Given the description of an element on the screen output the (x, y) to click on. 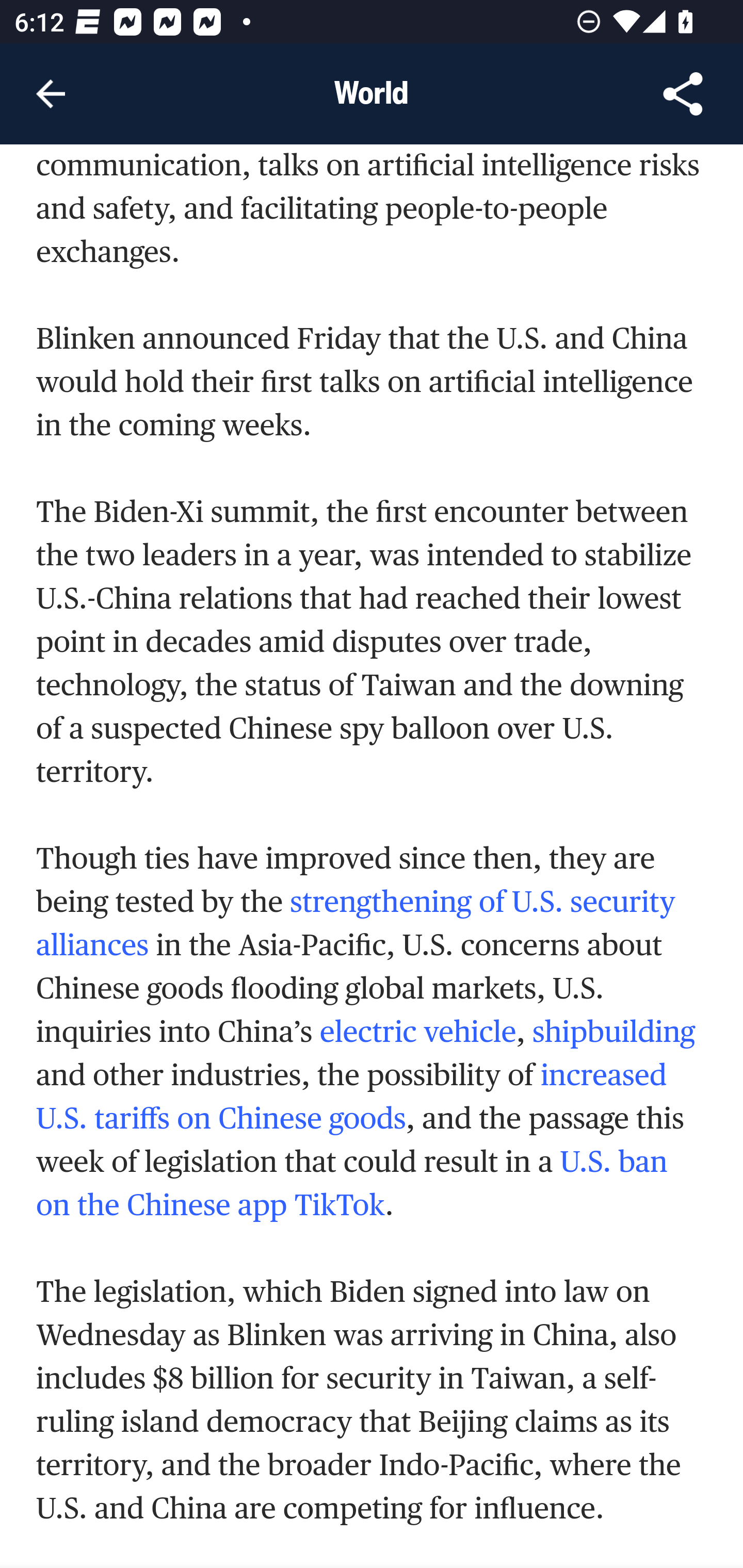
Navigate up (50, 93)
Share Article, button (683, 94)
strengthening of U.S. security alliances (356, 921)
electric vehicle (417, 1030)
shipbuilding (613, 1030)
increased U.S. tariffs on Chinese goods (351, 1095)
U.S. ban on the Chinese app TikTok (351, 1182)
